Given the description of an element on the screen output the (x, y) to click on. 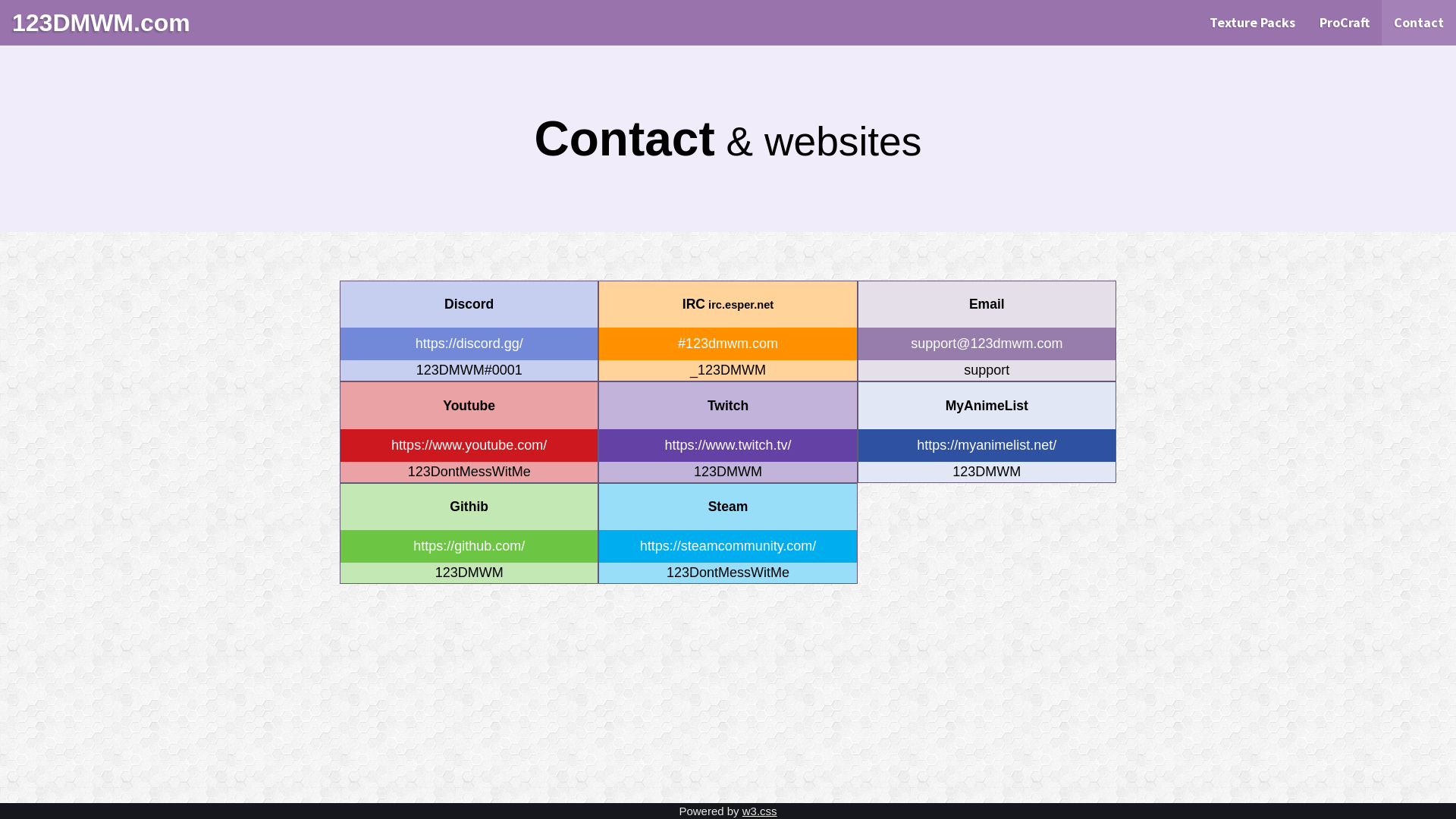
123DMWM.com Element type: text (101, 22)
support@123dmwm.com Element type: text (986, 343)
https://www.youtube.com/ Element type: text (468, 445)
https://myanimelist.net/ Element type: text (986, 445)
#123dmwm.com Element type: text (727, 343)
https://steamcommunity.com/ Element type: text (727, 546)
https://github.com/ Element type: text (468, 546)
https://www.twitch.tv/ Element type: text (727, 445)
w3.css Element type: text (759, 810)
Texture Packs Element type: text (1252, 22)
ProCraft Element type: text (1344, 22)
https://discord.gg/ Element type: text (468, 343)
